Given the description of an element on the screen output the (x, y) to click on. 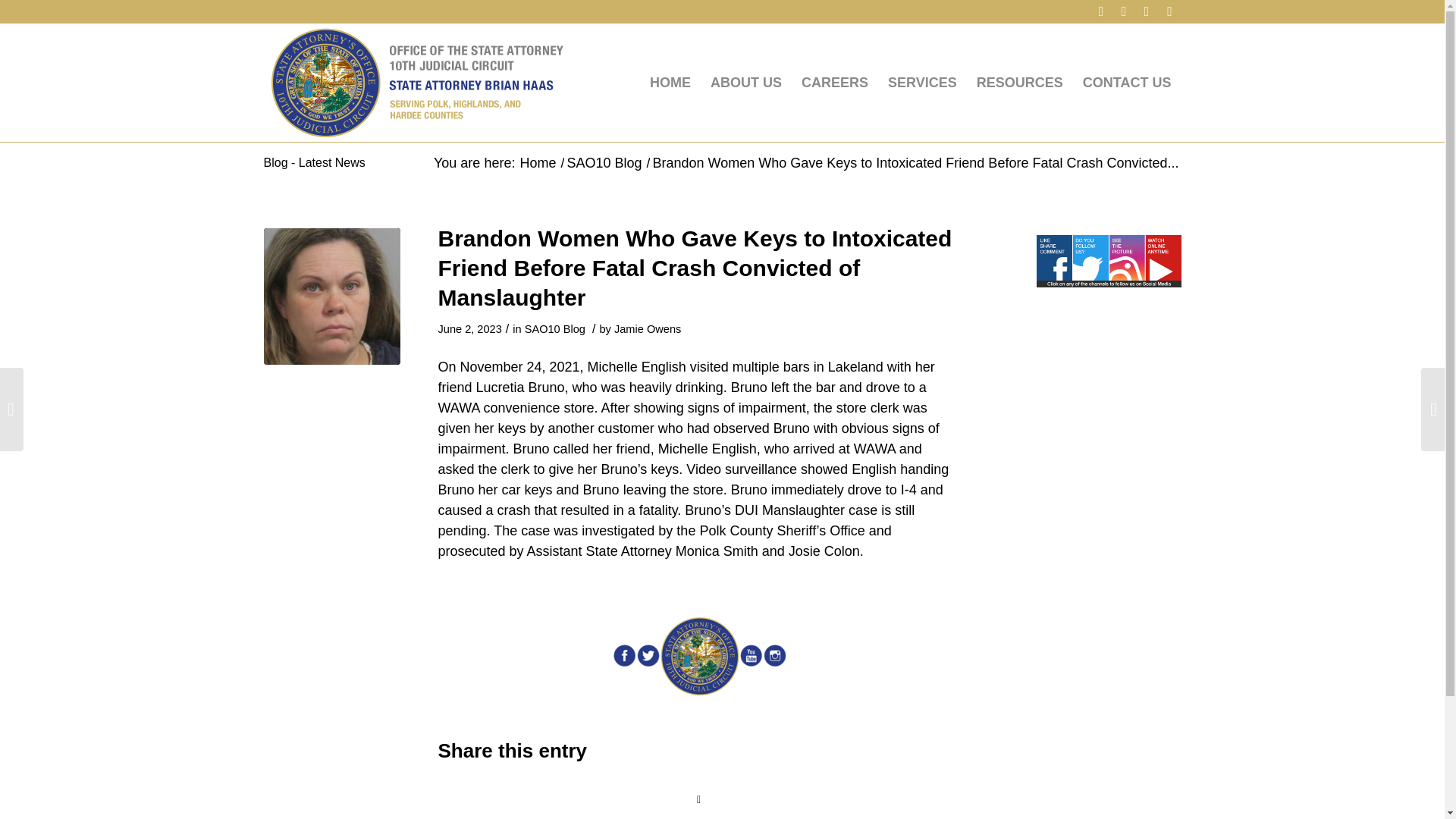
Posts by Jamie Owens (647, 328)
RESOURCES (1019, 82)
Jamie Owens (647, 328)
SAO10 Blog (554, 328)
State Attorney Office 10th Judicial Circuit (536, 163)
Twitter (1124, 11)
Permanent Link: Blog - Latest News (314, 162)
Instagram (1146, 11)
Office of the State Attorney 10th Judicial Circuit Logo (416, 82)
Facebook (1101, 11)
Blog - Latest News (314, 162)
SAO10 Blog (603, 163)
Michelle English (331, 296)
CONTACT US (1126, 82)
Youtube (1169, 11)
